Given the description of an element on the screen output the (x, y) to click on. 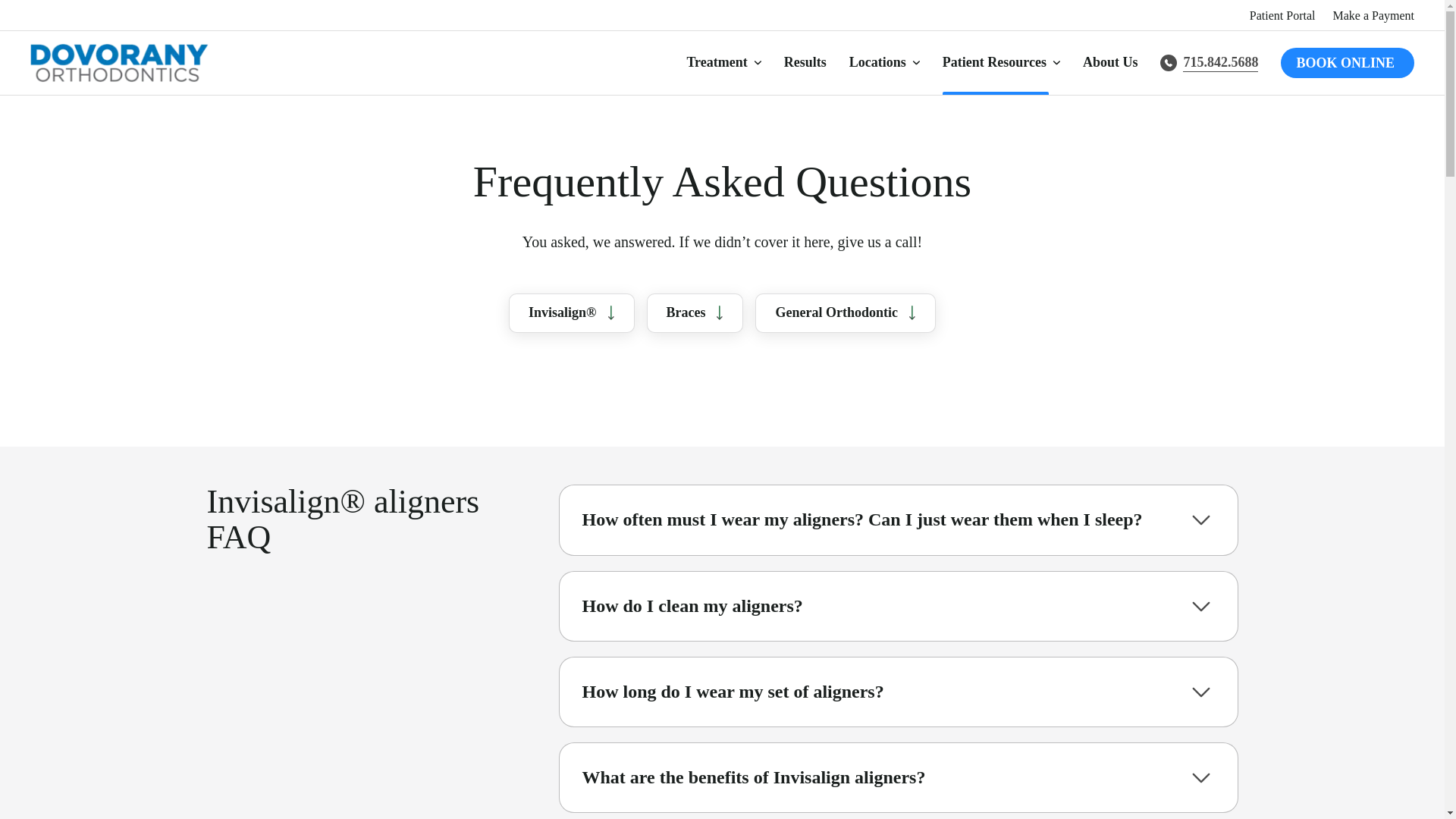
Patient Resources (1000, 63)
General Orthodontic (844, 312)
Patient Portal (1282, 16)
715.842.5688 (1208, 62)
Make a Payment (1372, 16)
Make a Payment (1372, 16)
Patient Portal (1282, 16)
BOOK ONLINE (1347, 62)
Treatment (722, 63)
Braces (694, 312)
Locations (884, 63)
BOOK ONLINE (1347, 62)
